Given the description of an element on the screen output the (x, y) to click on. 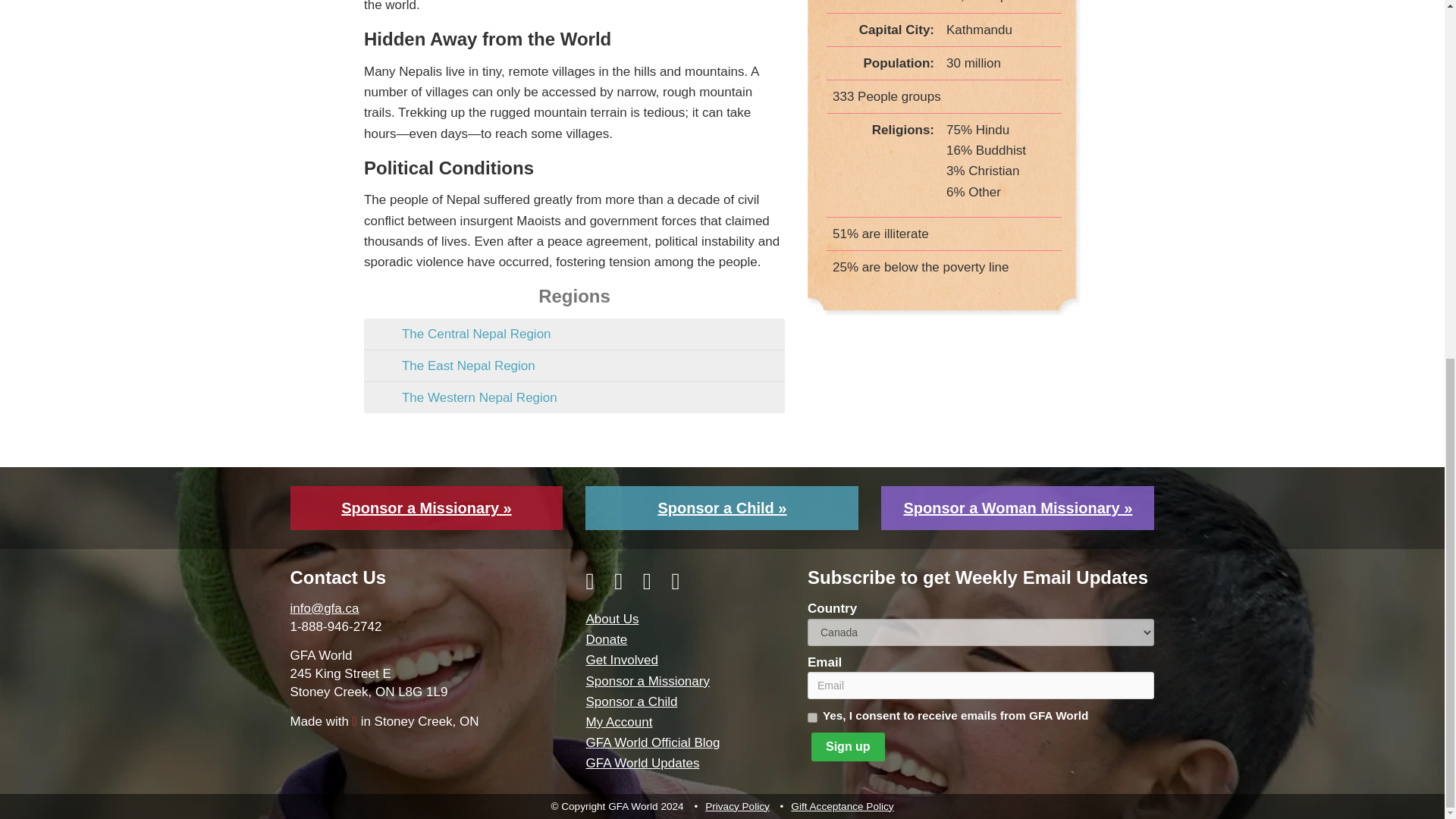
on (812, 717)
